Given the description of an element on the screen output the (x, y) to click on. 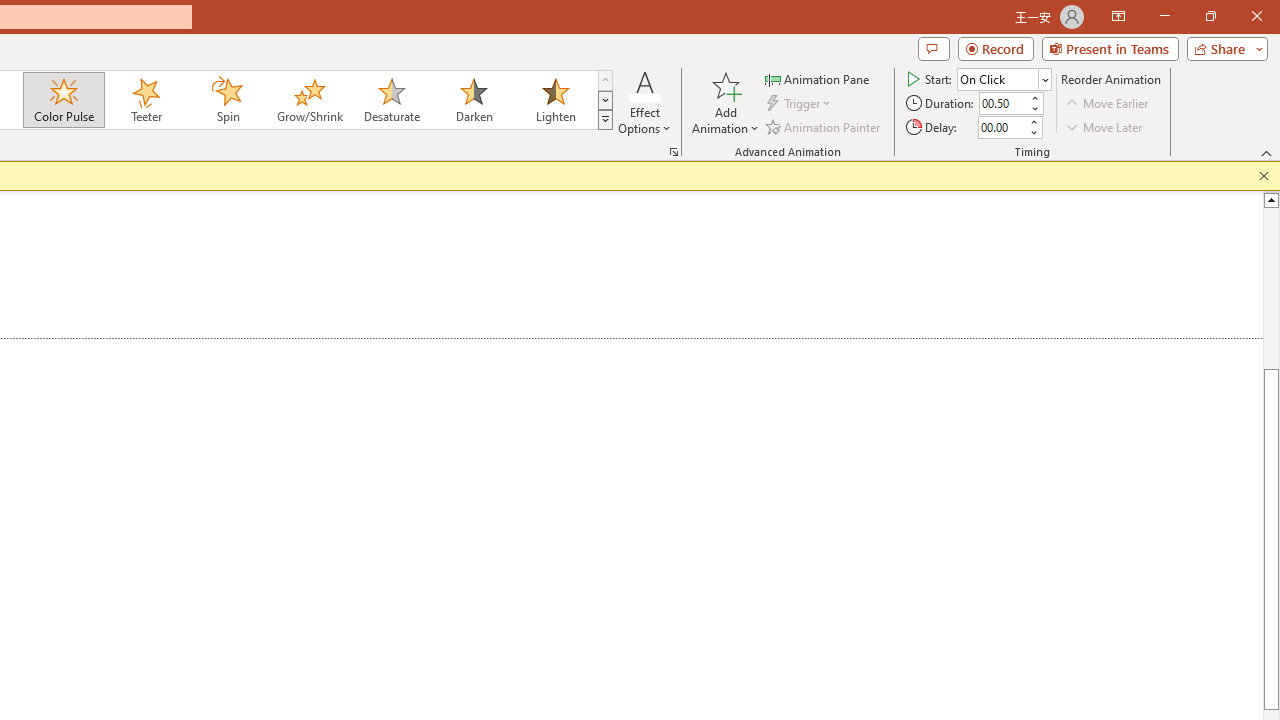
Effect Options (644, 102)
Lighten (555, 100)
Animation Duration (1003, 103)
Grow/Shrink (309, 100)
Desaturate (391, 100)
Close this message (1263, 176)
Spin (227, 100)
Animation Pane (818, 78)
